Given the description of an element on the screen output the (x, y) to click on. 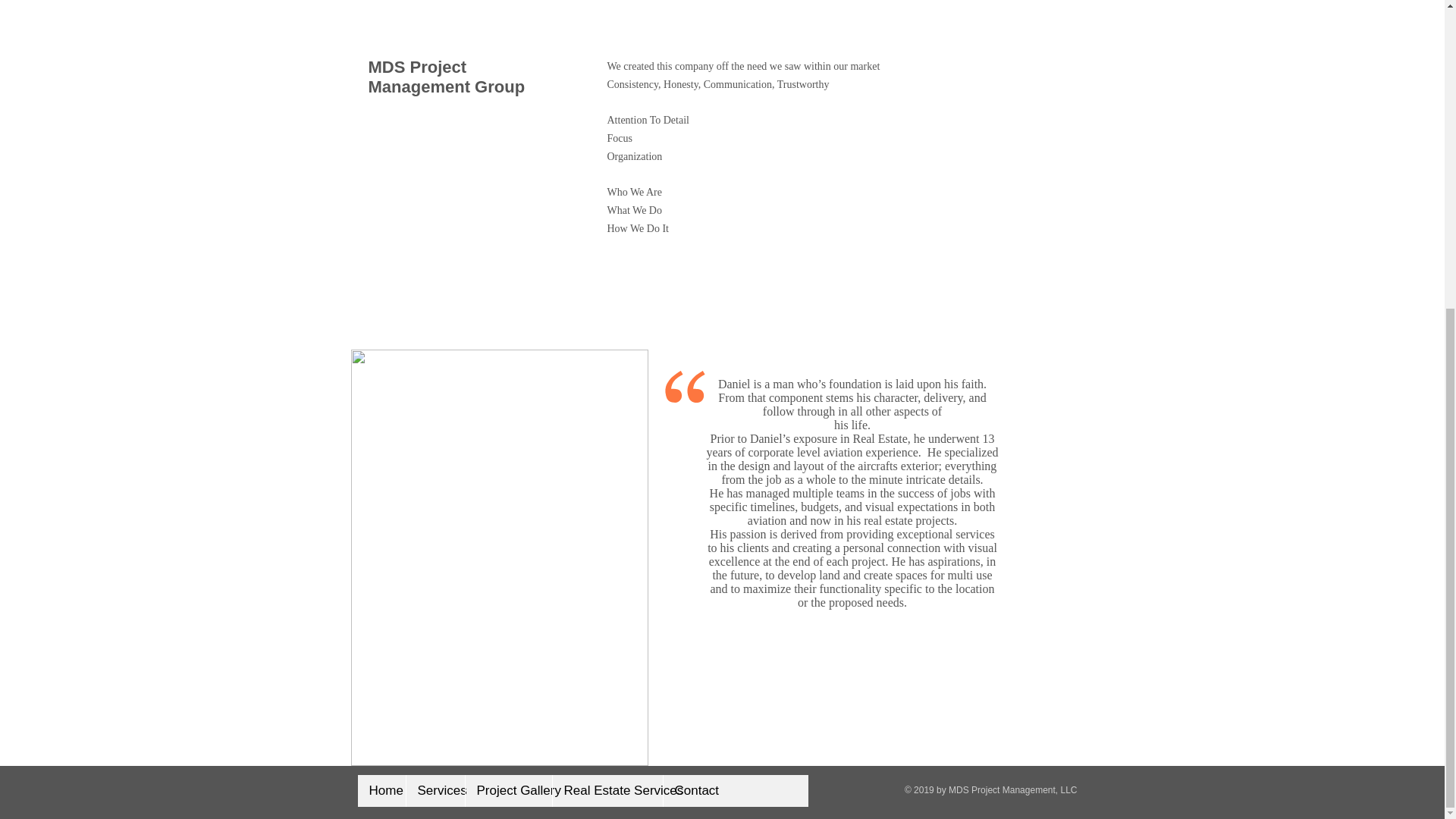
Contact (690, 790)
Project Gallery (507, 790)
Home (382, 790)
Services (434, 790)
Real Estate Services (606, 790)
